Given the description of an element on the screen output the (x, y) to click on. 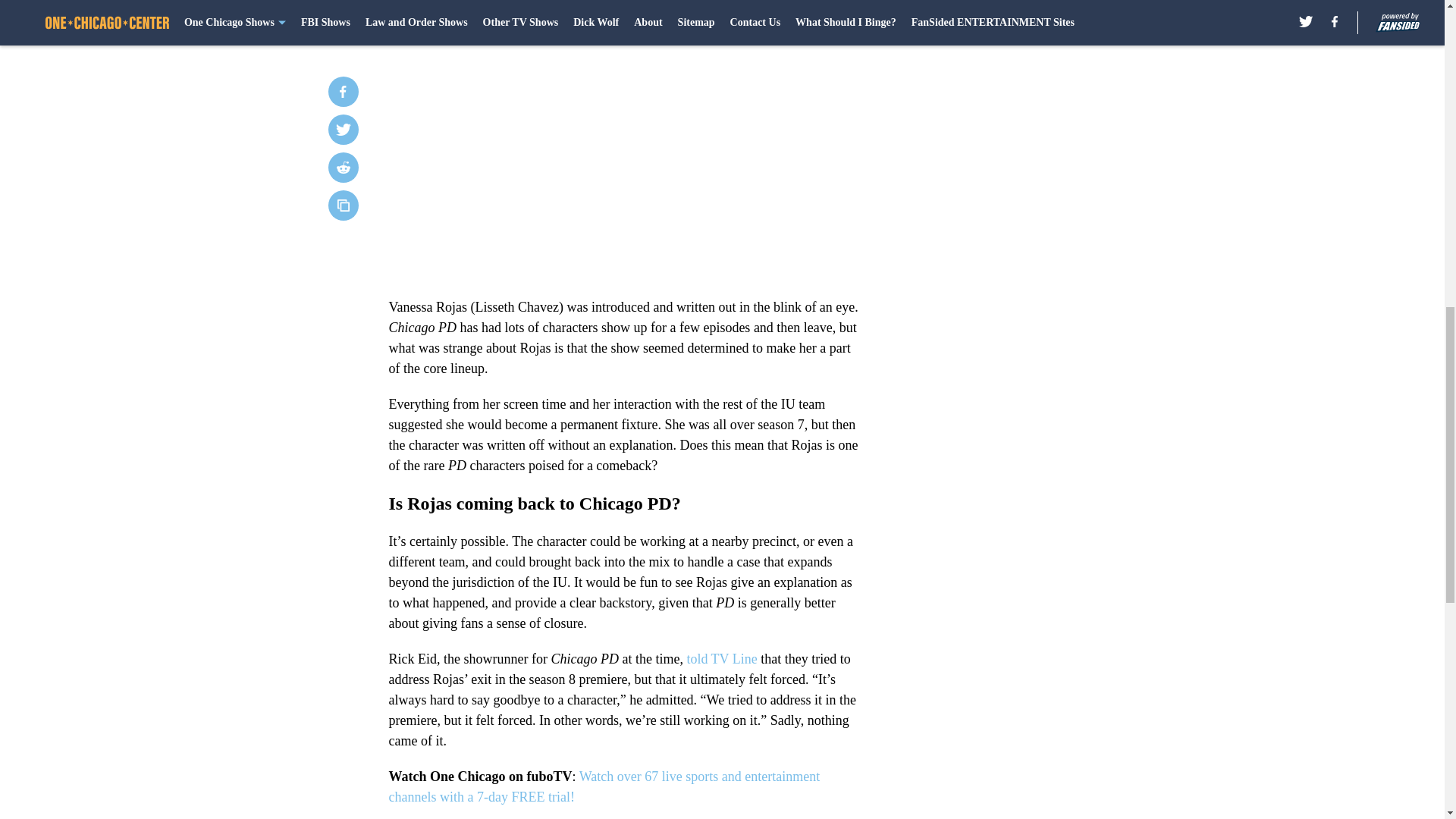
told TV Line (721, 658)
